Given the description of an element on the screen output the (x, y) to click on. 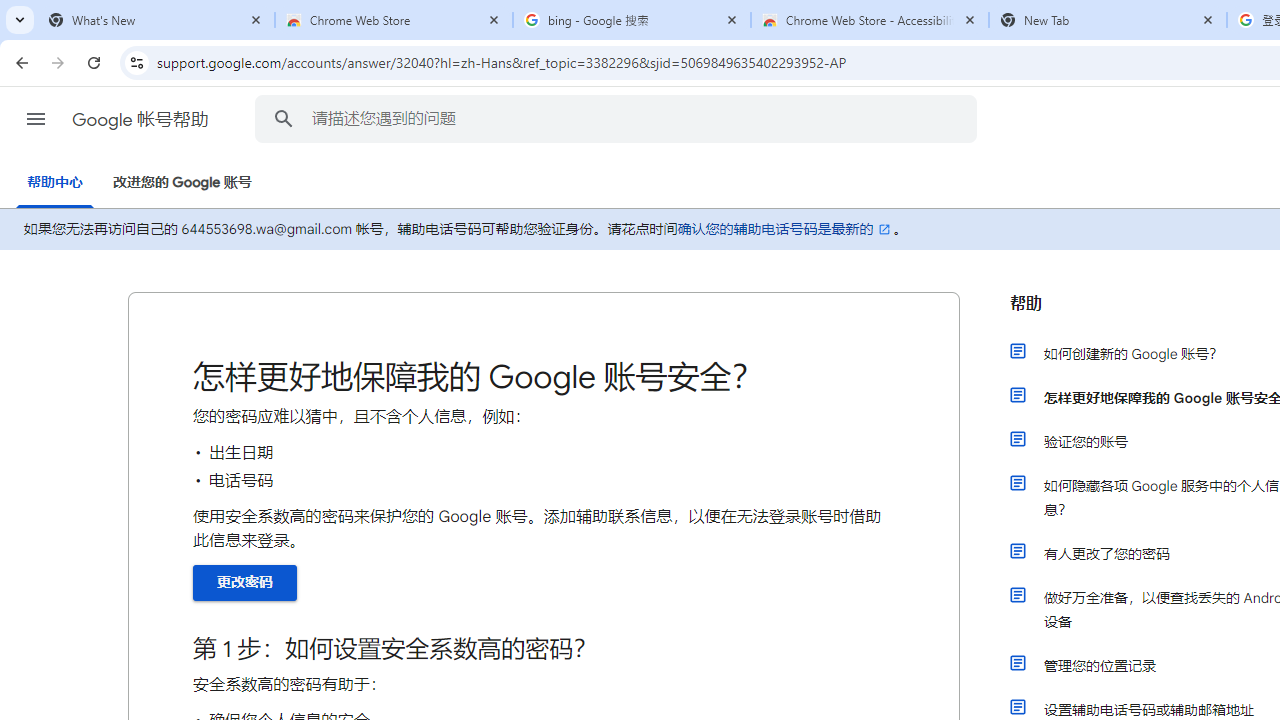
Chrome Web Store - Accessibility (870, 20)
